Given the description of an element on the screen output the (x, y) to click on. 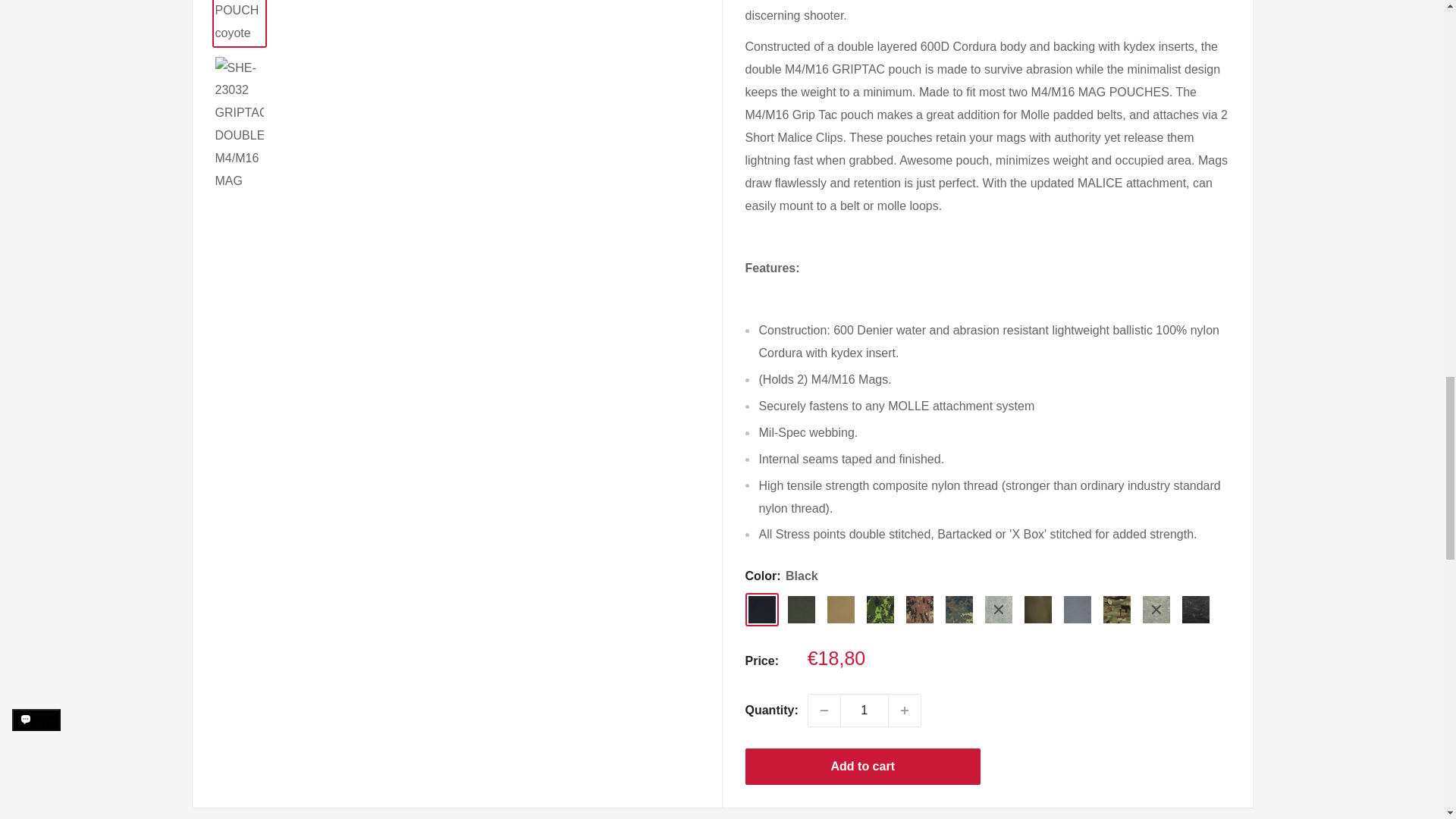
UTP Darknight (1194, 609)
Flectarn (958, 609)
1 (864, 710)
Vegetato (919, 609)
OD (800, 609)
UTP Temperate (1155, 609)
Decrease quantity by 1 (824, 710)
Digi Flora (997, 609)
Black (761, 609)
Woodland Digi (879, 609)
